Given the description of an element on the screen output the (x, y) to click on. 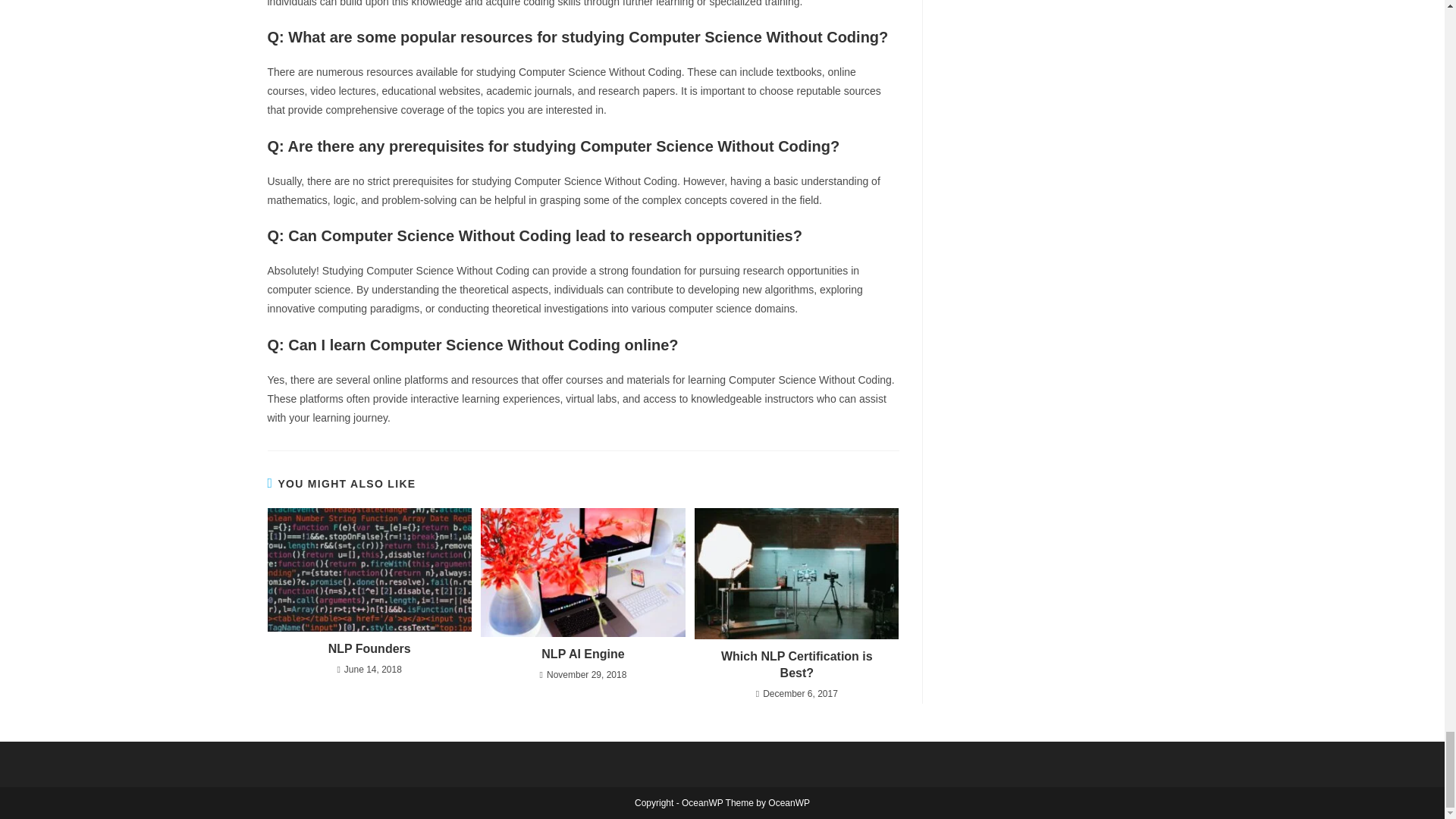
NLP Founders (368, 648)
NLP AI Engine (582, 654)
Which NLP Certification is Best? (796, 665)
